Given the description of an element on the screen output the (x, y) to click on. 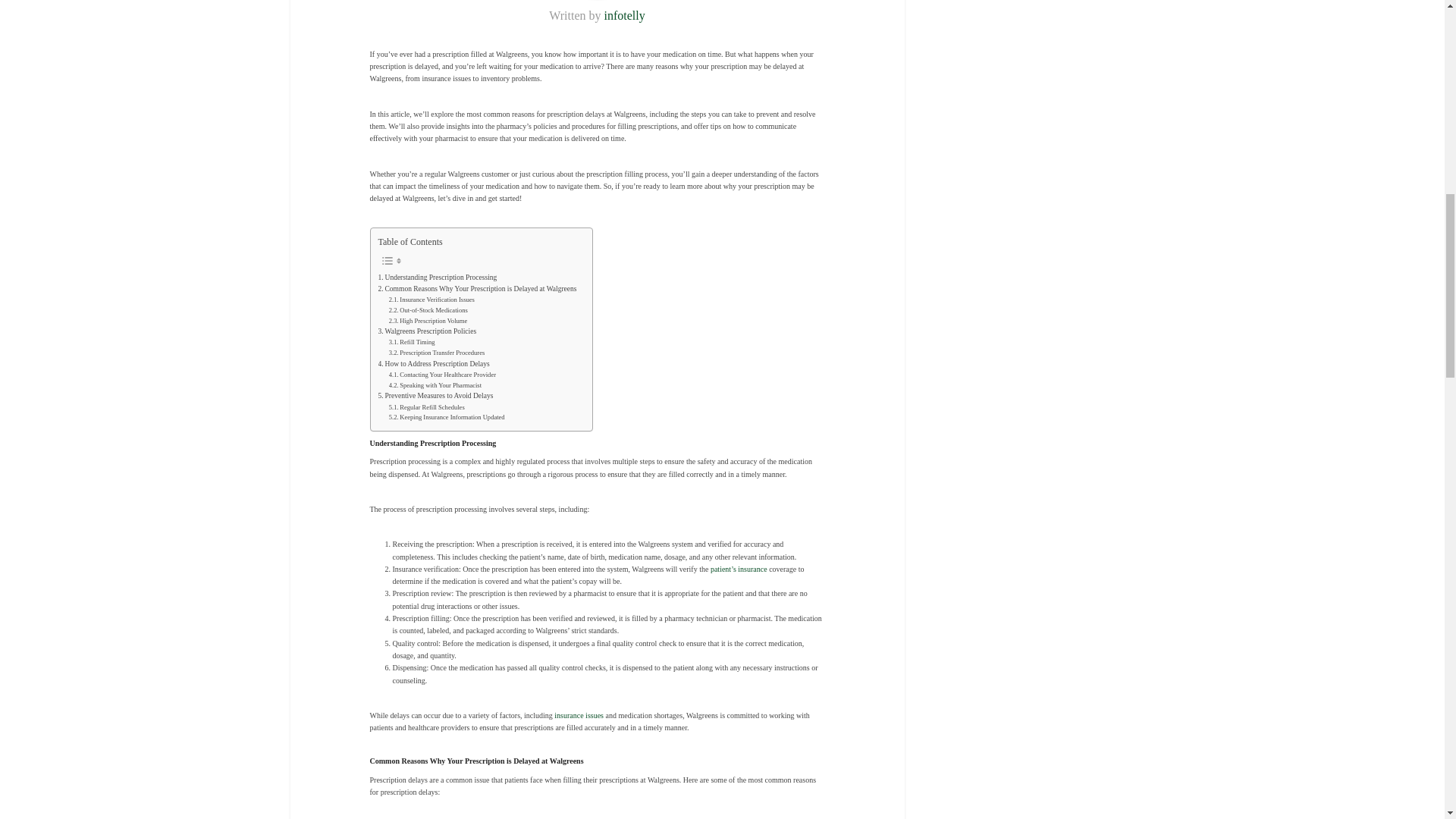
Walgreens Prescription Policies (426, 331)
Prescription Transfer Procedures (436, 353)
How to Address Prescription Delays (433, 364)
Speaking with Your Pharmacist (434, 385)
Contacting Your Healthcare Provider (442, 375)
Understanding Prescription Processing (436, 277)
Speaking with Your Pharmacist (434, 385)
Refill Timing (411, 342)
Refill Timing (411, 342)
Out-of-Stock Medications (427, 310)
Regular Refill Schedules (426, 407)
Walgreens Prescription Policies (426, 331)
Prescription Transfer Procedures (436, 353)
Keeping Insurance Information Updated (446, 417)
Insurance Verification Issues (431, 299)
